Given the description of an element on the screen output the (x, y) to click on. 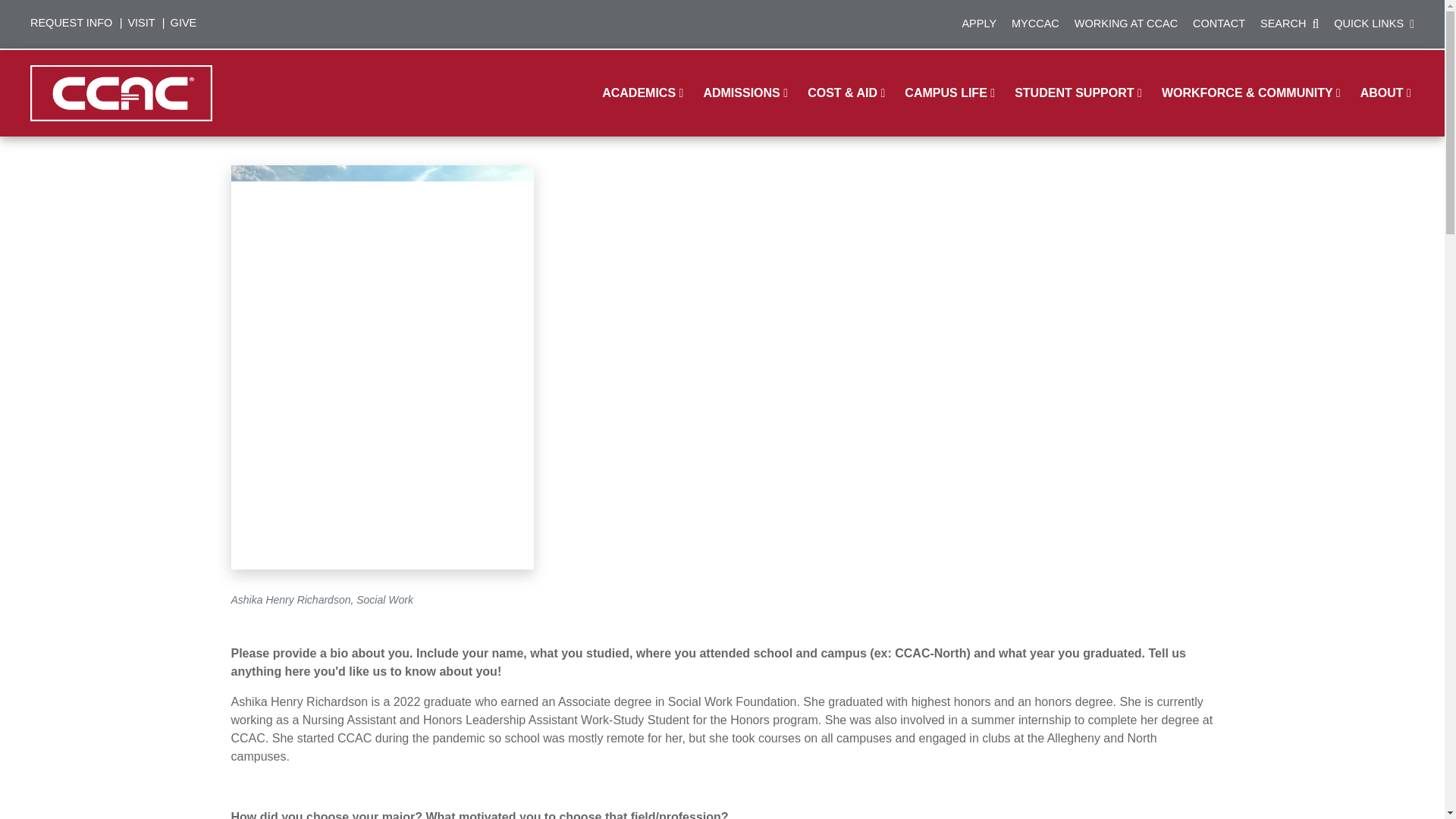
CONTACT (1218, 25)
WORKING AT CCAC (1126, 25)
APPLY (978, 25)
ACADEMICS (644, 93)
MYCCAC (1035, 25)
VISIT (140, 25)
QUICK LINKS (1374, 25)
GIVE (184, 25)
REQUEST INFO (71, 25)
SEARCH (1289, 25)
